Given the description of an element on the screen output the (x, y) to click on. 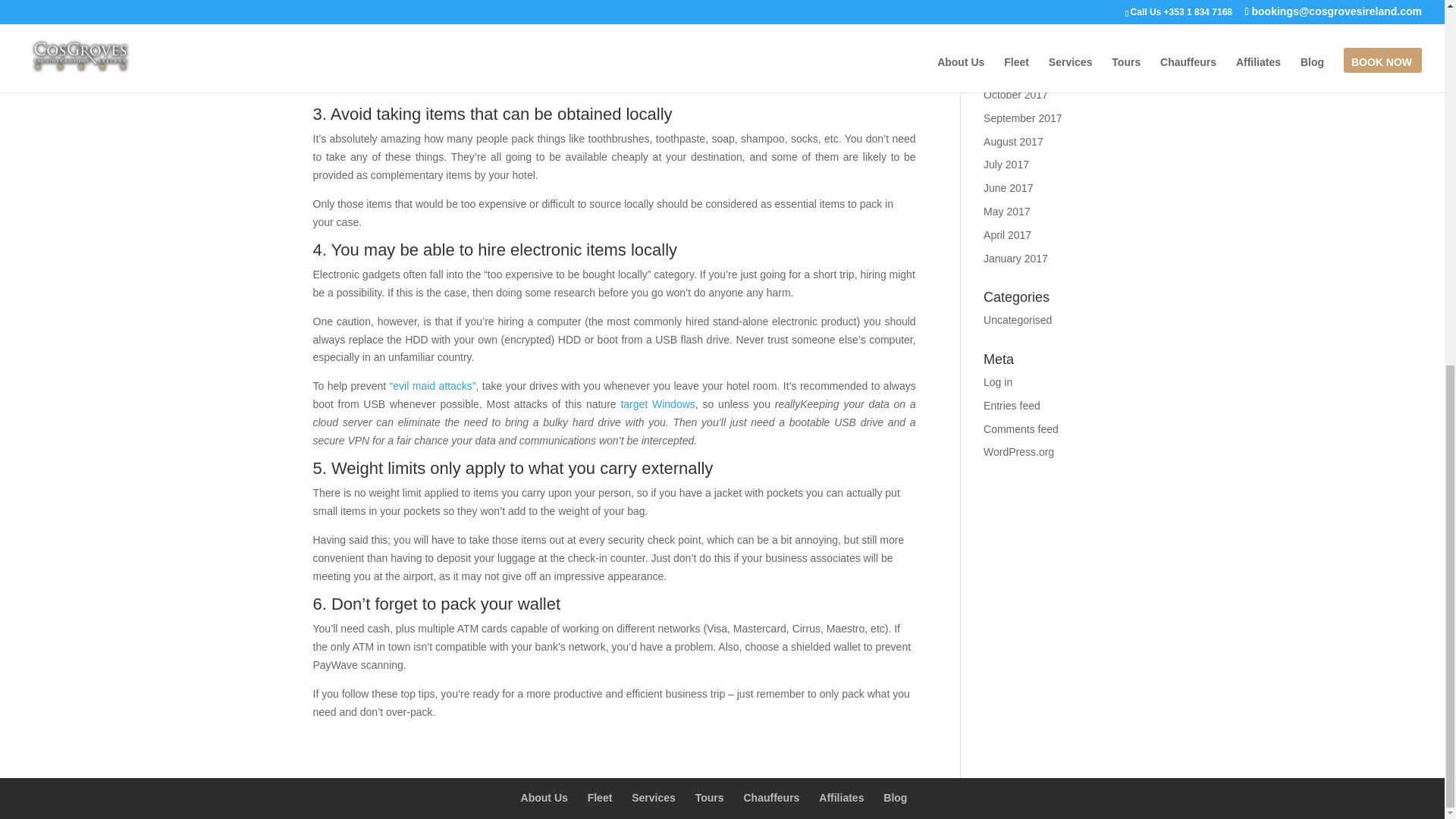
target Windows (657, 404)
October 2017 (1016, 94)
February 2018 (1018, 3)
September 2017 (1023, 118)
December 2017 (1021, 47)
November 2017 (1021, 70)
January 2018 (1016, 24)
August 2017 (1013, 141)
